Given the description of an element on the screen output the (x, y) to click on. 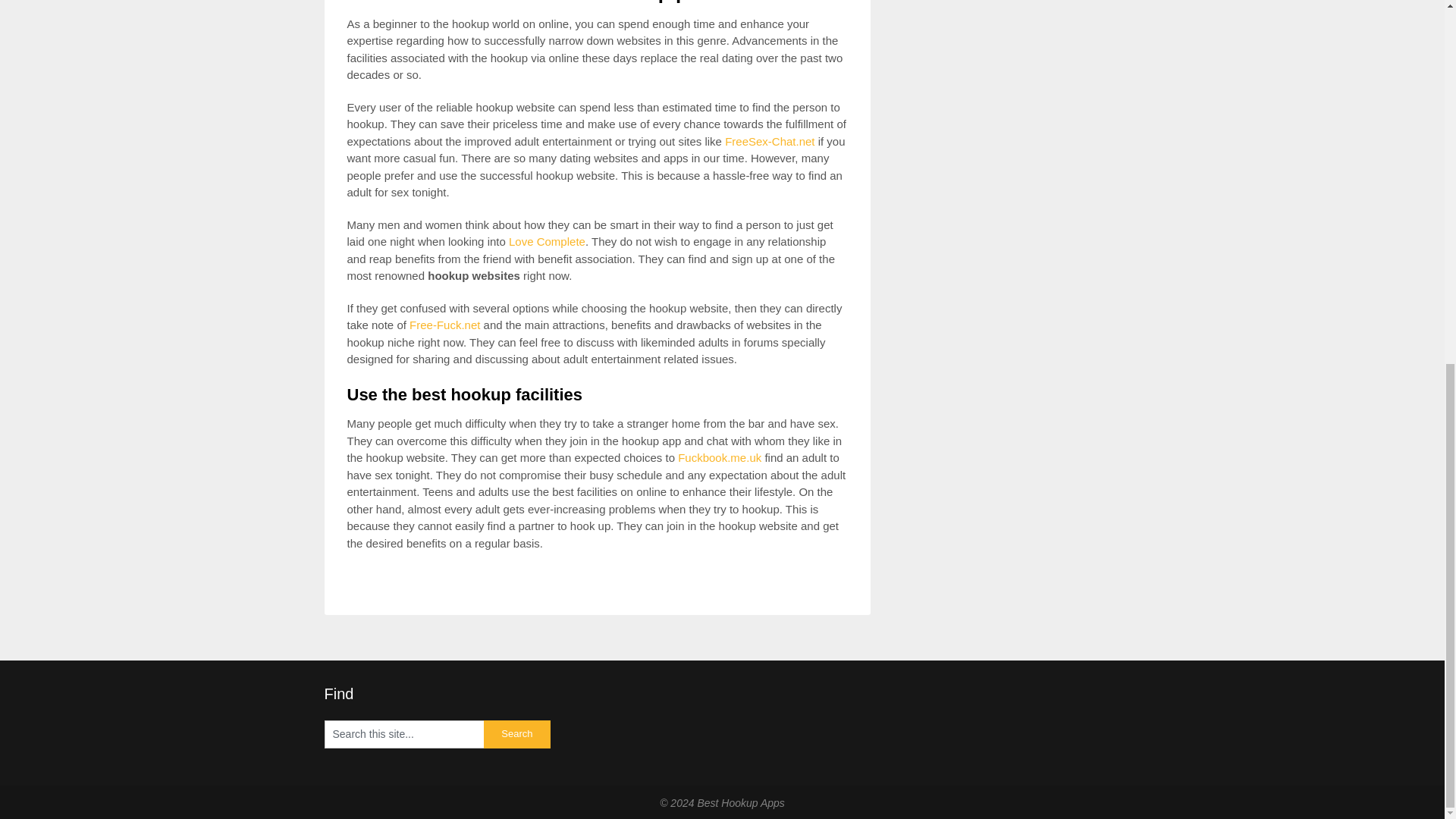
Free-Fuck.net (444, 324)
Love Complete (546, 241)
Search this site... (403, 734)
Search (517, 734)
Search (517, 734)
FreeSex-Chat.net (769, 141)
Fuckbook.me.uk (719, 457)
